Given the description of an element on the screen output the (x, y) to click on. 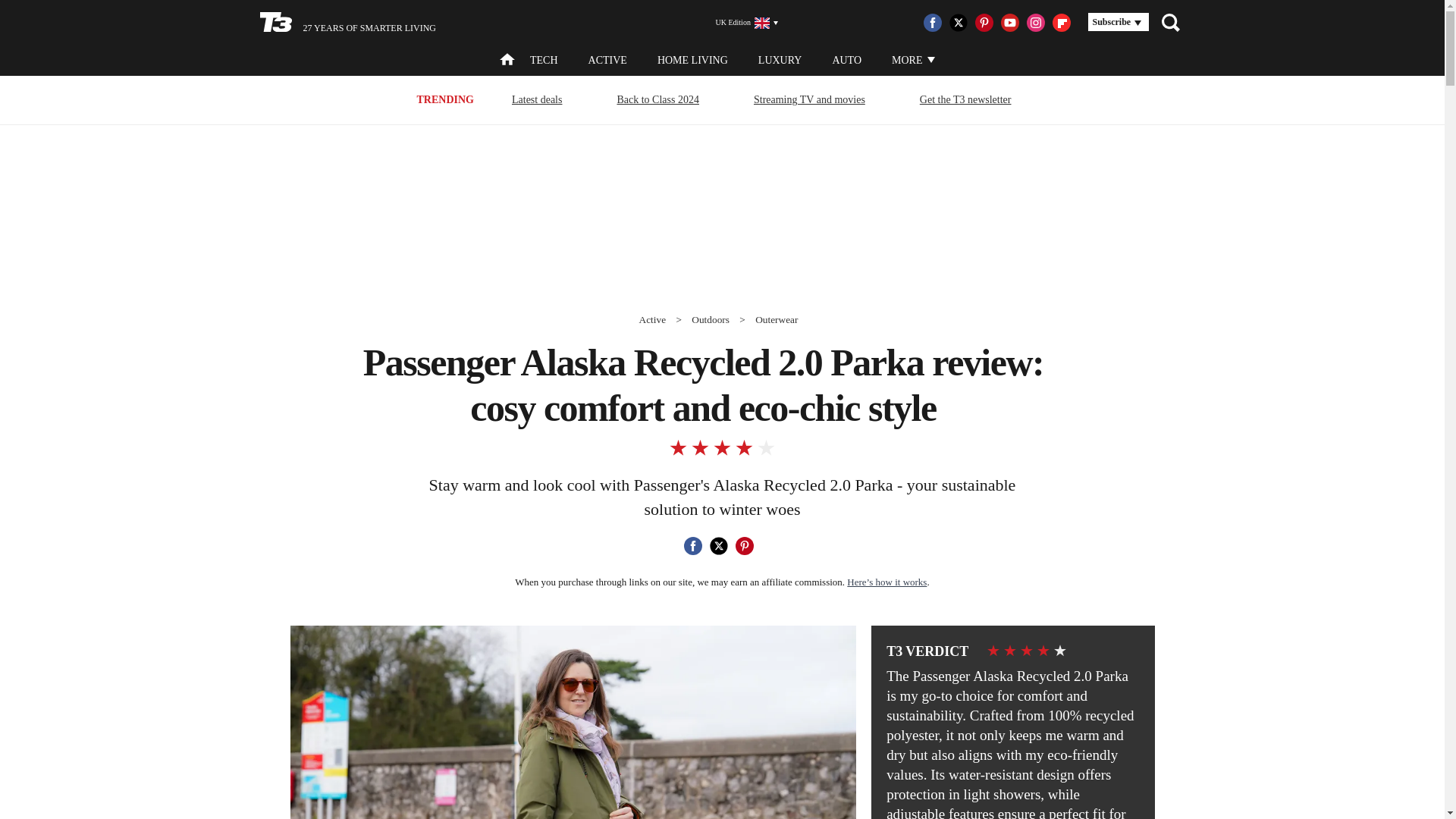
Back to Class 2024 (657, 99)
TECH (543, 60)
Latest deals (536, 99)
AUTO (846, 60)
LUXURY (780, 60)
27 YEARS OF SMARTER LIVING (347, 23)
ACTIVE (607, 60)
HOME LIVING (693, 60)
UK Edition (740, 22)
Streaming TV and movies (809, 99)
